Given the description of an element on the screen output the (x, y) to click on. 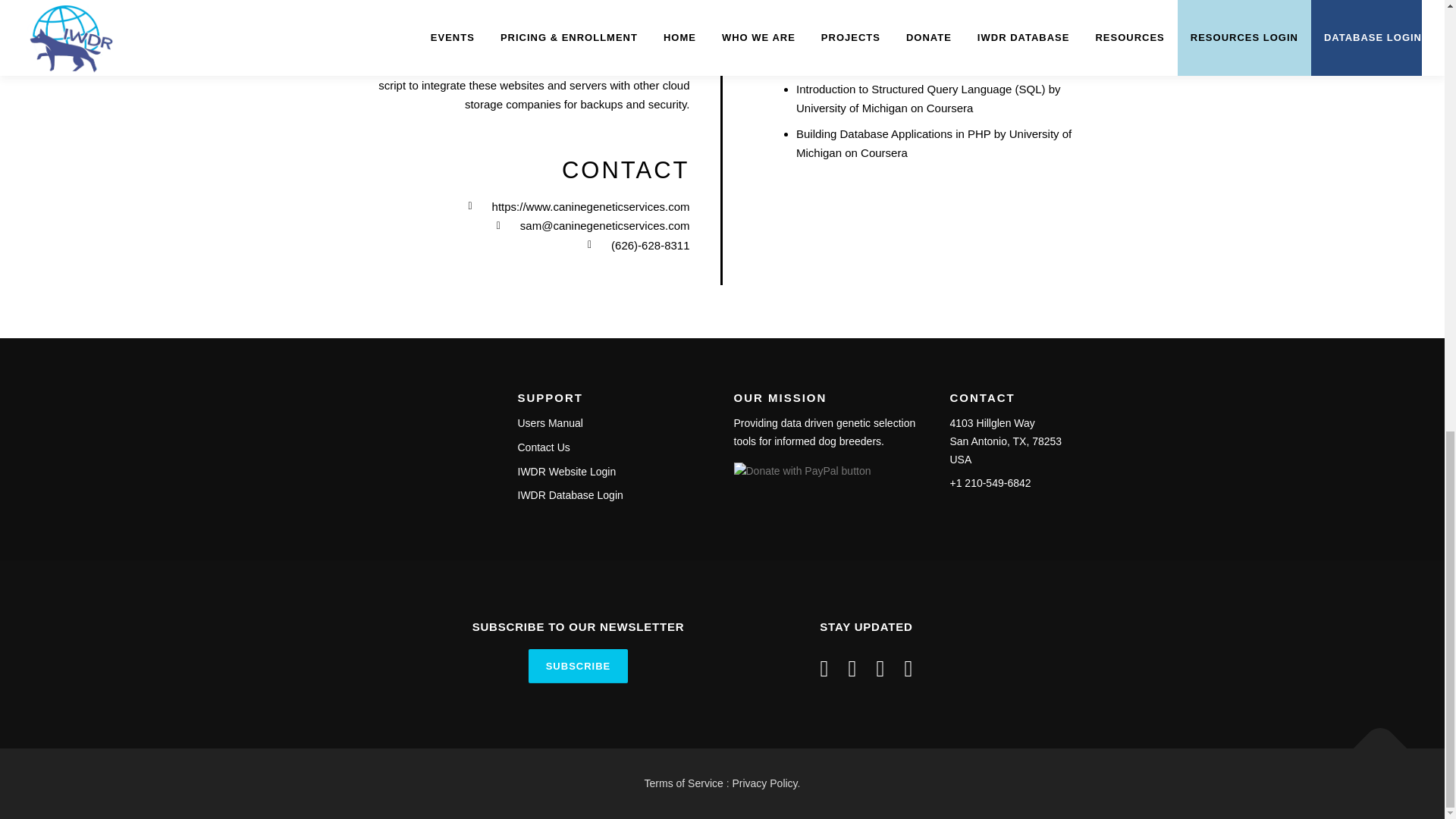
Subscribe (578, 666)
Back To Top (1372, 740)
Subscribe (578, 666)
IWDR Database Login (569, 494)
Users Manual (549, 422)
Contact Us (542, 447)
IWDR Website Login (565, 471)
PayPal - The safer, easier way to pay online! (801, 471)
